Given the description of an element on the screen output the (x, y) to click on. 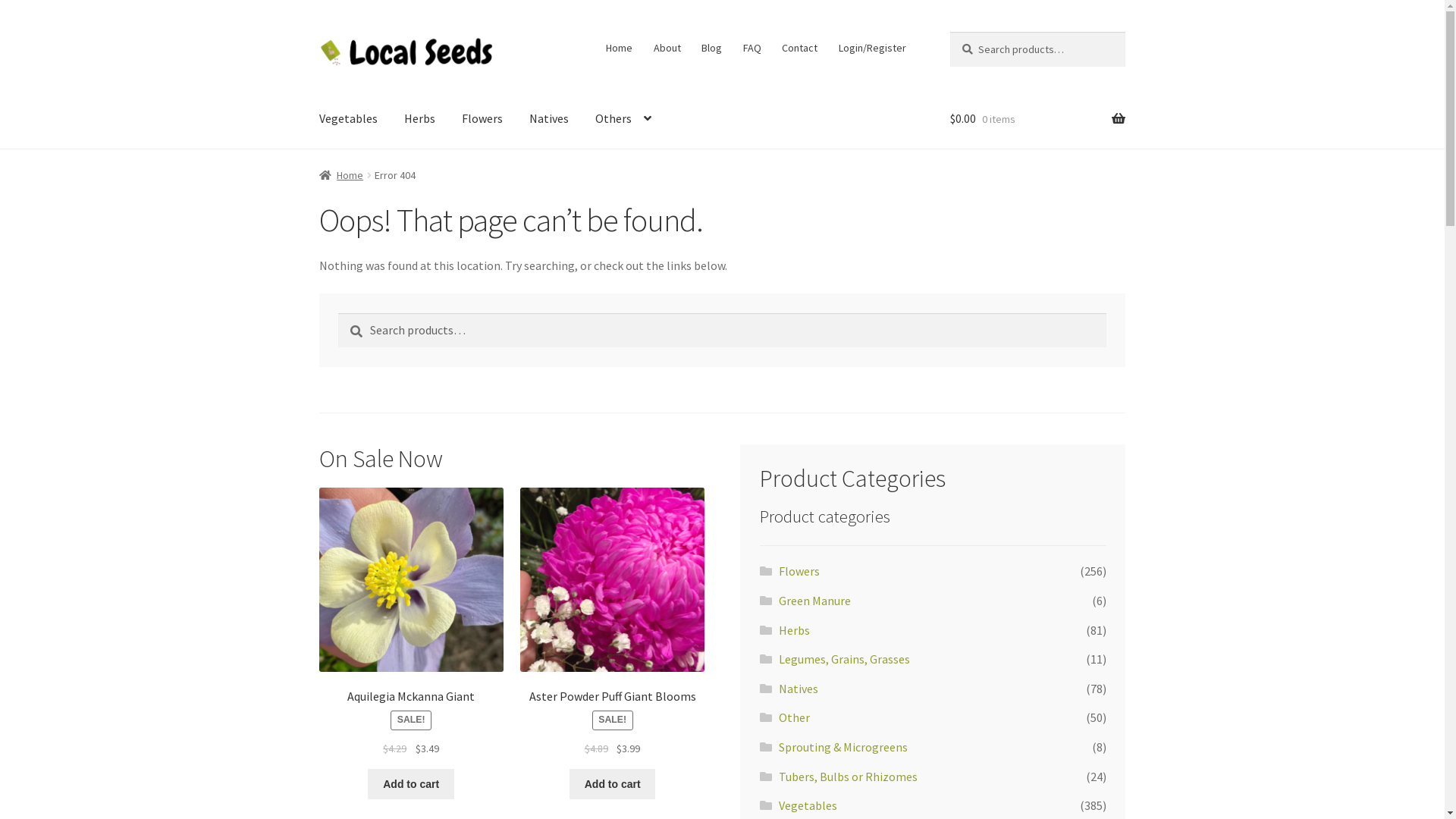
Vegetables Element type: text (807, 804)
Flowers Element type: text (481, 118)
Aster Powder Puff Giant Blooms
SALE!
$4.89 $3.99 Element type: text (612, 622)
Blog Element type: text (711, 47)
Skip to navigation Element type: text (318, 31)
Search Element type: text (337, 312)
Vegetables Element type: text (348, 118)
Home Element type: text (341, 175)
Legumes, Grains, Grasses Element type: text (844, 658)
Tubers, Bulbs or Rhizomes Element type: text (847, 776)
Natives Element type: text (798, 688)
Contact Element type: text (799, 47)
Natives Element type: text (548, 118)
Sprouting & Microgreens Element type: text (842, 746)
Herbs Element type: text (419, 118)
Aquilegia Mckanna Giant
SALE!
$4.29 $3.49 Element type: text (411, 622)
Green Manure Element type: text (814, 600)
Other Element type: text (793, 716)
Add to cart Element type: text (410, 783)
Herbs Element type: text (793, 629)
FAQ Element type: text (751, 47)
Others Element type: text (623, 118)
$0.00 0 items Element type: text (1037, 118)
Login/Register Element type: text (871, 47)
Flowers Element type: text (798, 570)
About Element type: text (666, 47)
Search Element type: text (949, 31)
Home Element type: text (619, 47)
Add to cart Element type: text (612, 783)
